Given the description of an element on the screen output the (x, y) to click on. 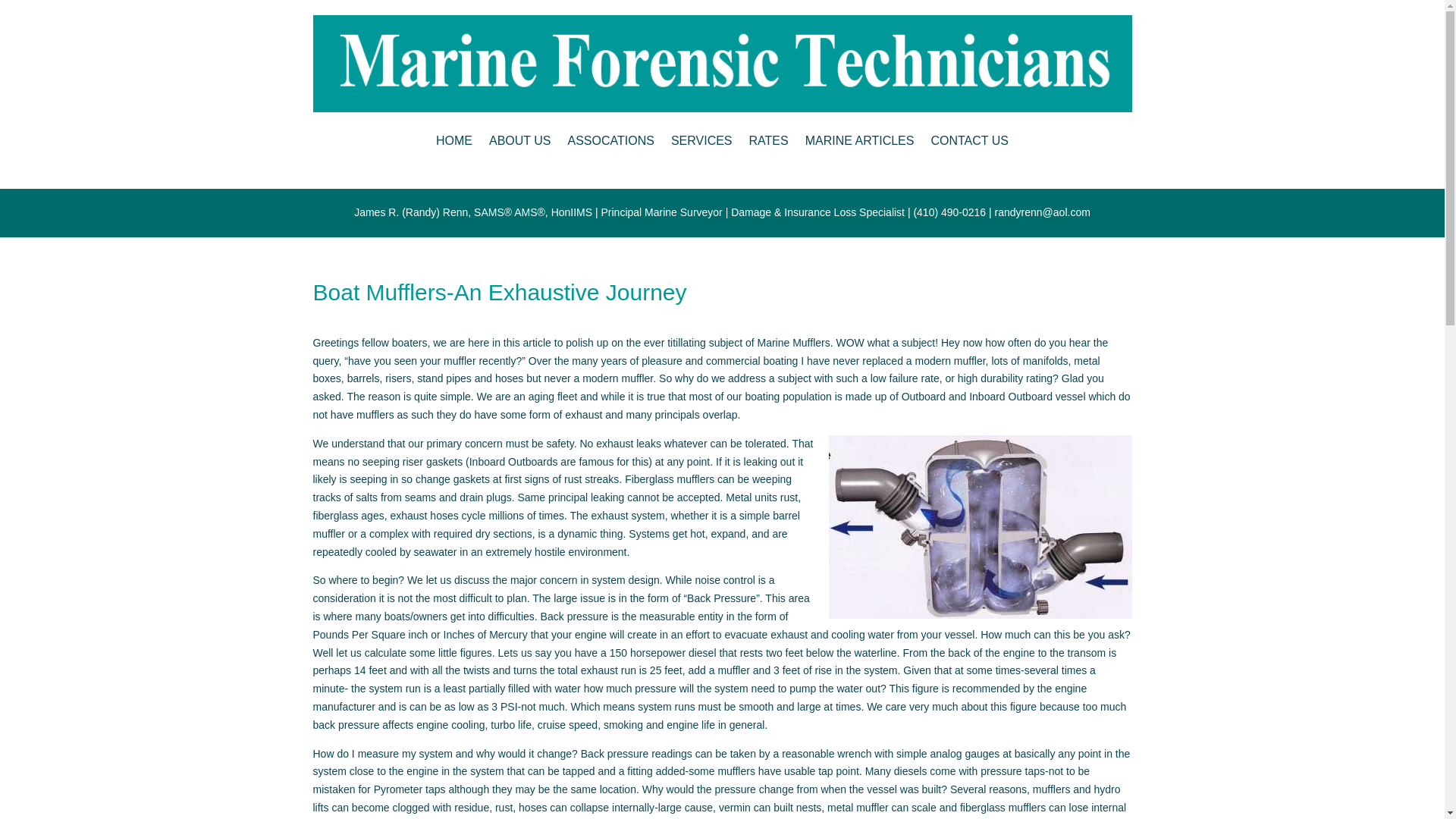
CONTACT US (969, 140)
SERVICES (701, 140)
ABOUT US (520, 140)
MARINE ARTICLES (859, 140)
ASSOCATIONS (610, 140)
